Given the description of an element on the screen output the (x, y) to click on. 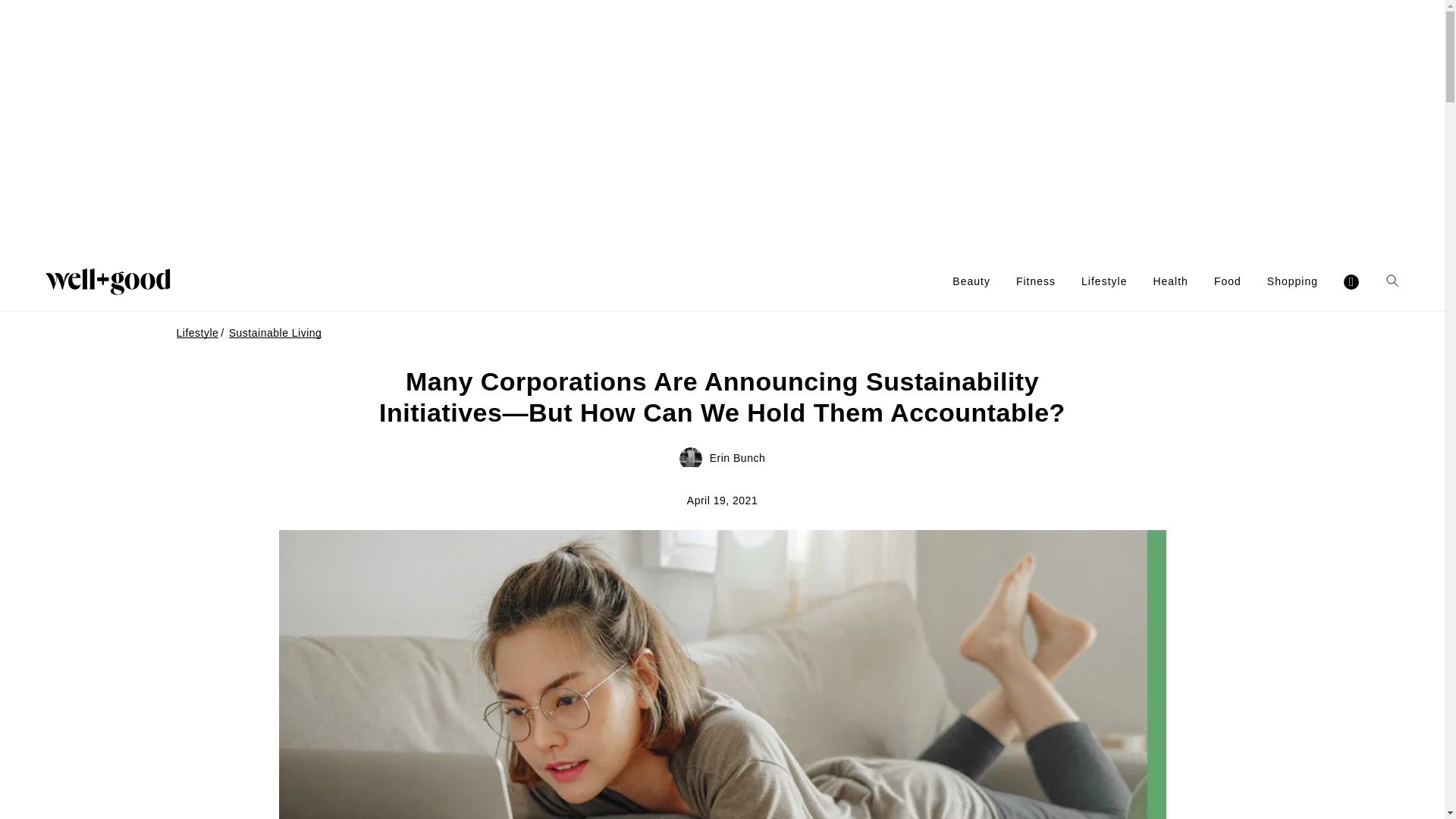
Fitness (1035, 281)
Shopping (1291, 281)
Lifestyle (1103, 281)
Health (1170, 281)
Beauty (971, 281)
Food (1227, 281)
